Given the description of an element on the screen output the (x, y) to click on. 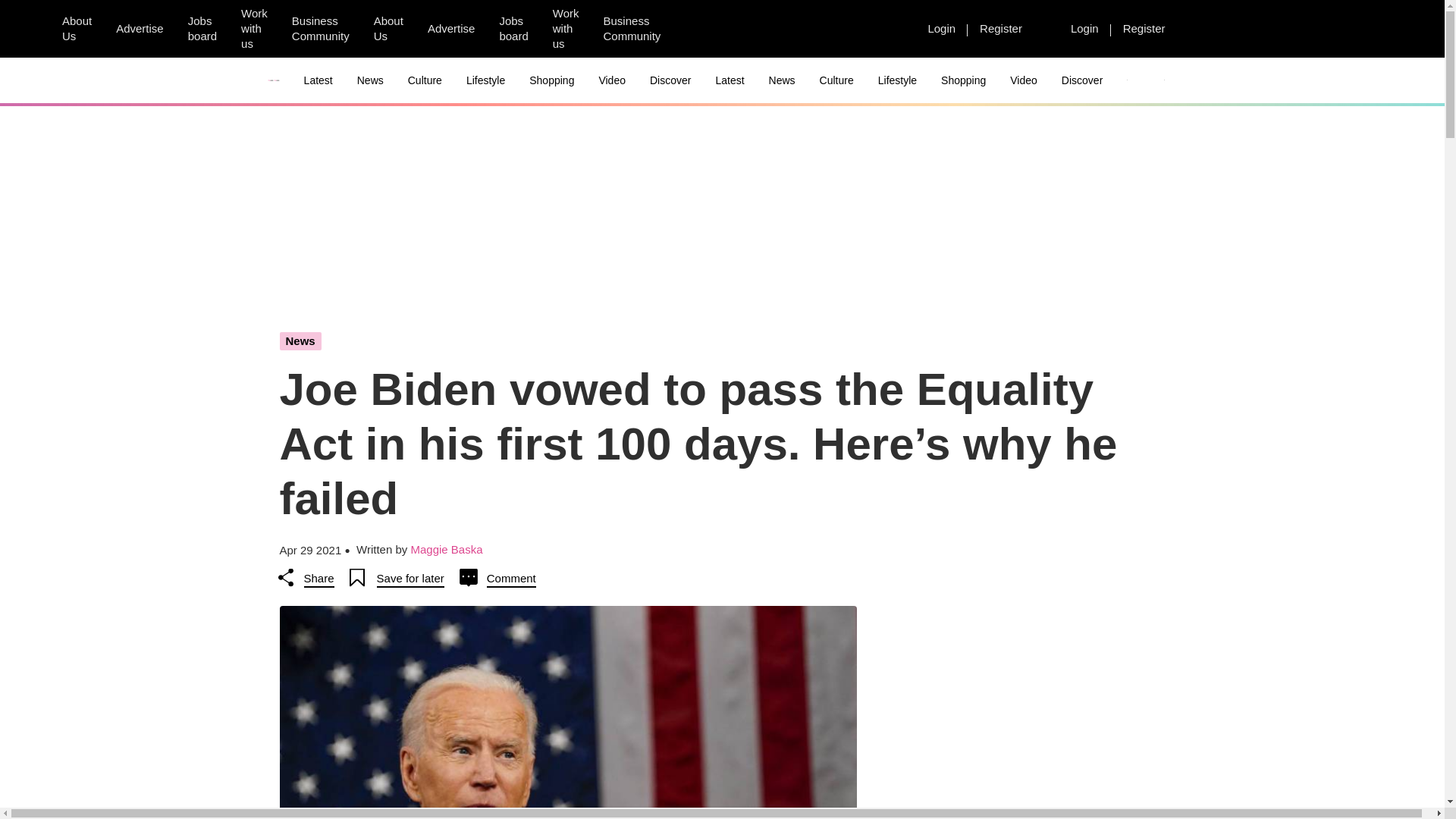
News (370, 79)
Register (1000, 28)
About Us (387, 28)
Latest (318, 79)
Jobs board (202, 28)
Work with us (565, 28)
Business Community (631, 28)
Login (1084, 28)
Advertise (139, 28)
Follow PinkNews on LinkedIn (775, 28)
Register (1143, 28)
Business Community (320, 28)
About Us (76, 28)
Follow PinkNews on LinkedIn (885, 28)
Login (941, 28)
